Given the description of an element on the screen output the (x, y) to click on. 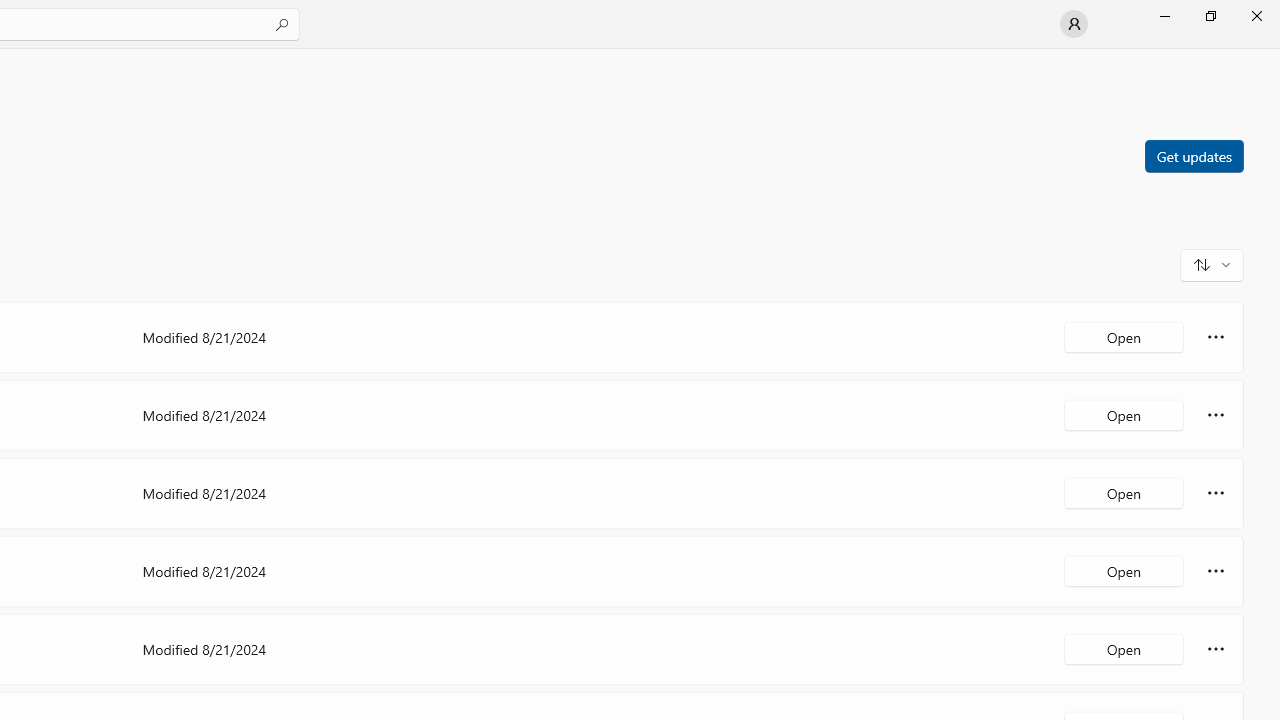
More options (1215, 648)
Get updates (1193, 155)
User profile (1073, 24)
Restore Microsoft Store (1210, 15)
Sort and filter (1212, 263)
Minimize Microsoft Store (1164, 15)
Open (1123, 648)
Close Microsoft Store (1256, 15)
